Given the description of an element on the screen output the (x, y) to click on. 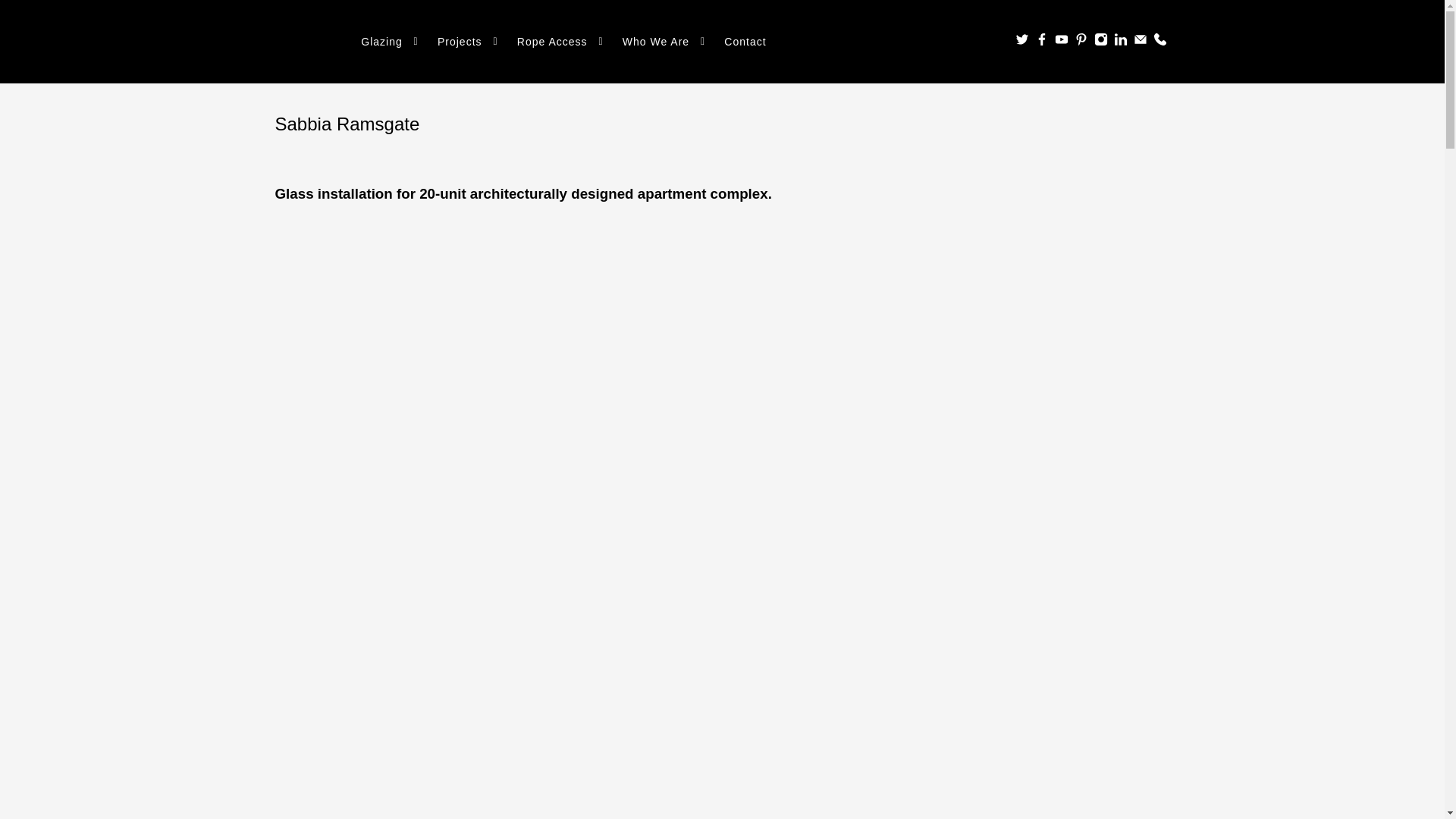
Magic Glass on LinkedIn (1119, 42)
Magic Glass on Facebook (1040, 42)
Rope Access (561, 41)
Magic Glass on YouTube (1060, 42)
Magic Glass on Instagram (1099, 42)
Magic Glass on Pinterest (1080, 42)
Email Magic Glass (1139, 42)
Contact Magic Glass (1159, 42)
Magic Glass (313, 41)
Contact (745, 41)
Magic Glass on Twitter (1020, 42)
Glazing (390, 41)
Who We Are (665, 41)
Projects (468, 41)
